Given the description of an element on the screen output the (x, y) to click on. 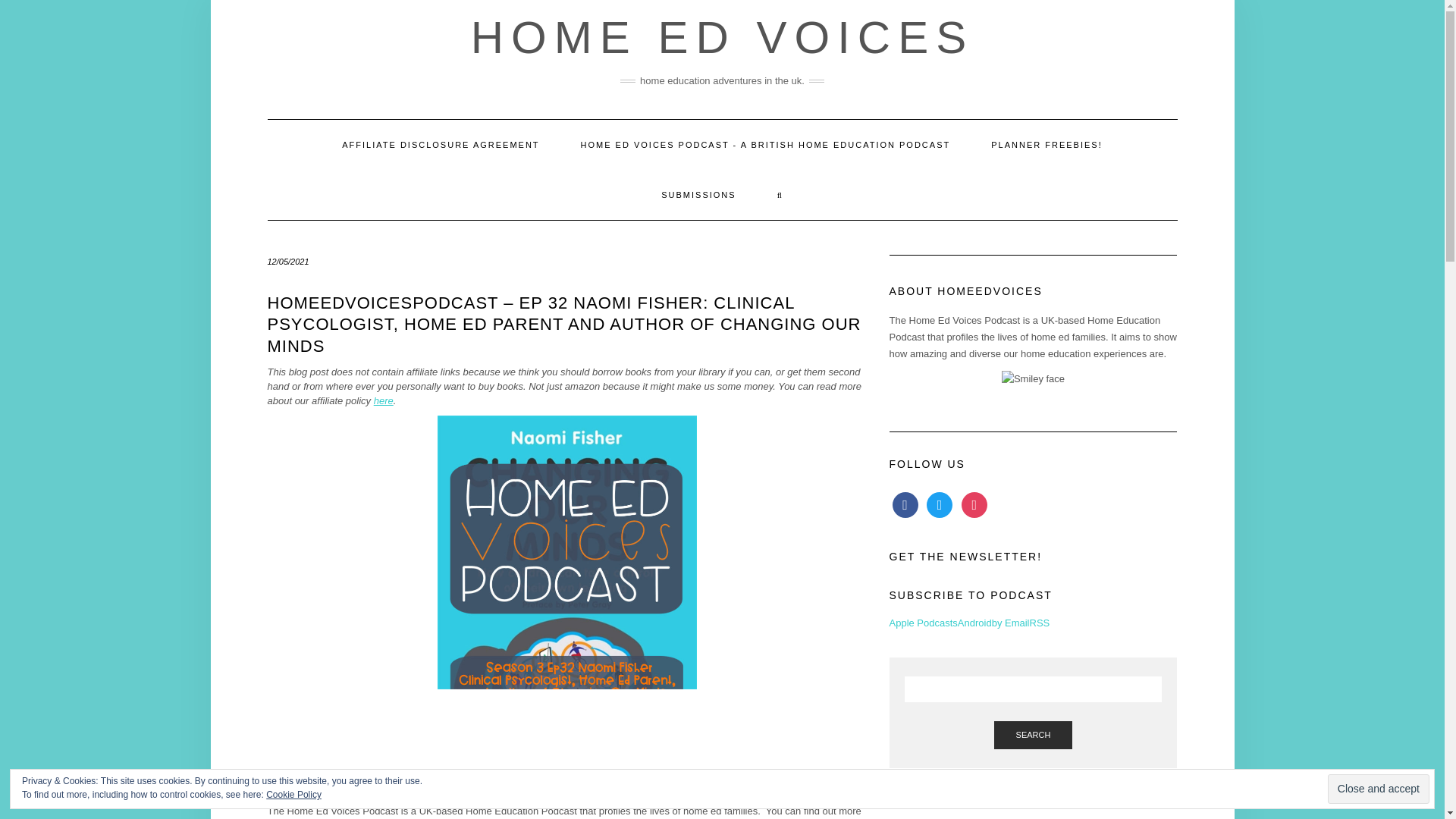
SUBMISSIONS (697, 194)
Subscribe on Android (974, 622)
AFFILIATE DISCLOSURE AGREEMENT (440, 144)
Subscribe via RSS (1039, 622)
Facebook (904, 504)
Twitter (939, 504)
HOME ED VOICES (722, 37)
here (383, 400)
Instagram (973, 504)
Subscribe by Email (1010, 622)
